Given the description of an element on the screen output the (x, y) to click on. 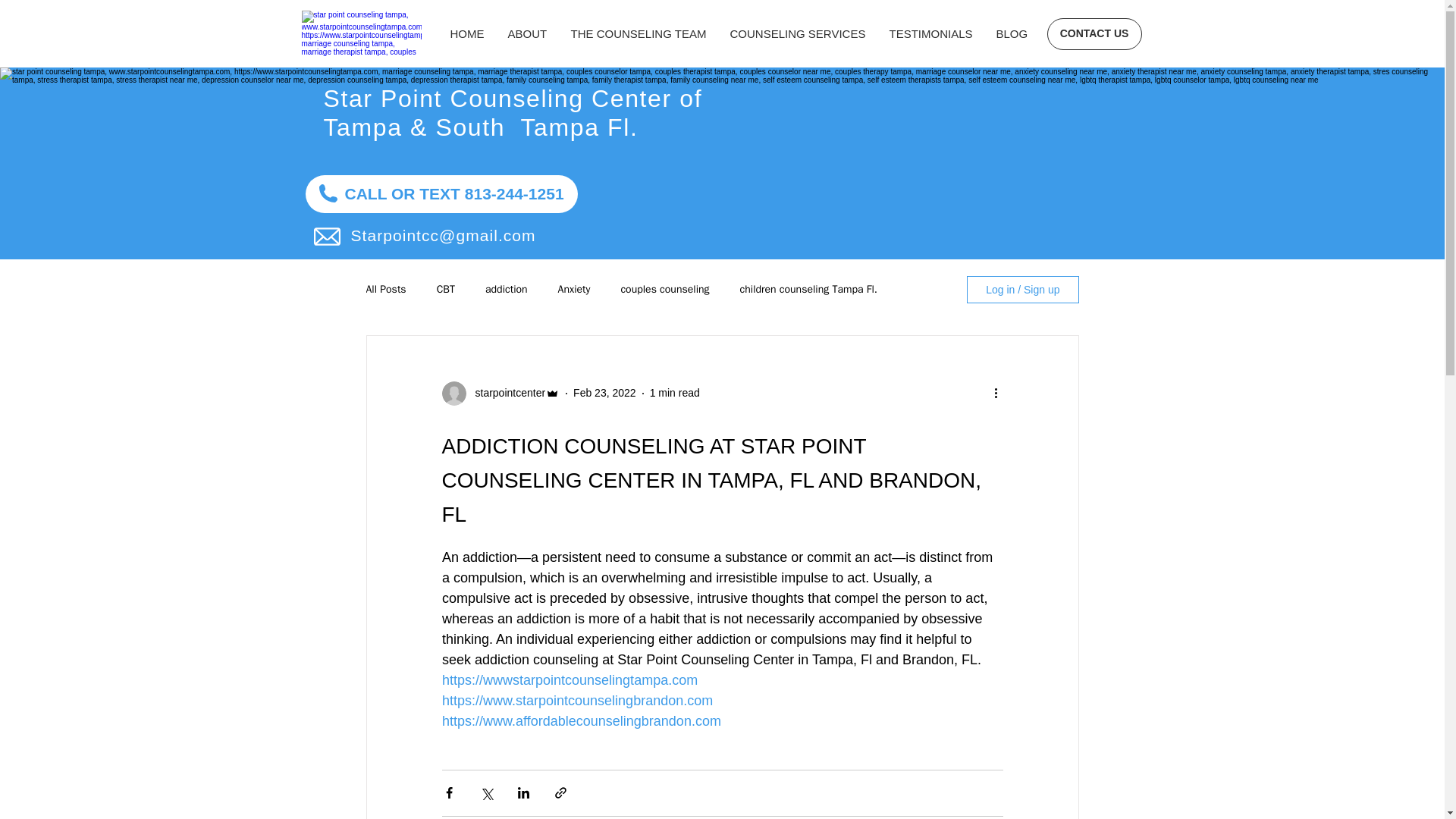
addiction (505, 289)
starpointcenter (504, 392)
children counseling Tampa Fl. (808, 289)
ABOUT (527, 34)
COUNSELING SERVICES (798, 34)
HOME (467, 34)
CONTACT US (1093, 33)
couples counseling (664, 289)
THE COUNSELING TEAM (639, 34)
Feb 23, 2022 (604, 392)
BLOG (1011, 34)
Anxiety (574, 289)
1 min read (674, 392)
All Posts (385, 289)
CBT (445, 289)
